Given the description of an element on the screen output the (x, y) to click on. 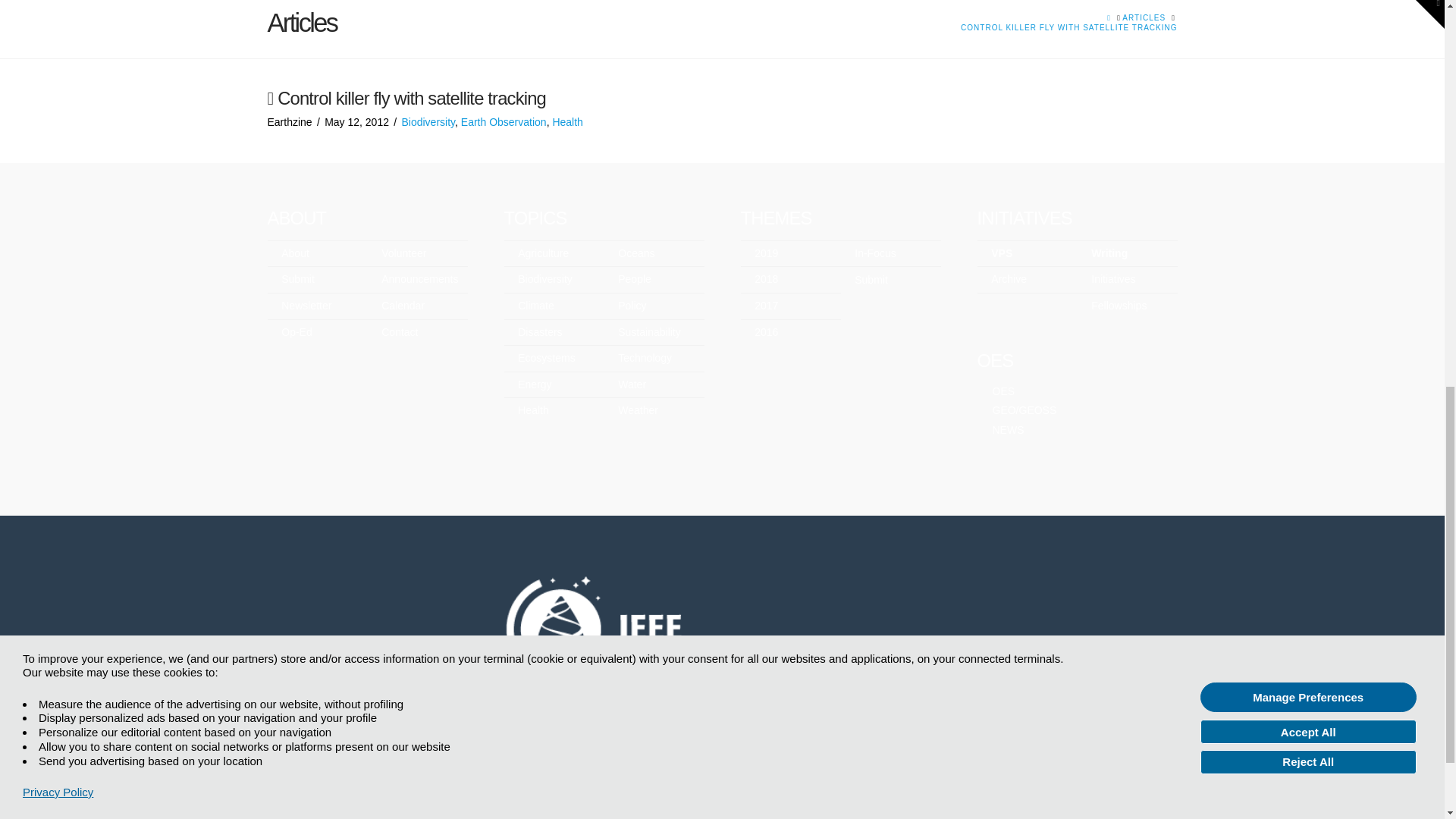
You Are Here (1068, 27)
